Given the description of an element on the screen output the (x, y) to click on. 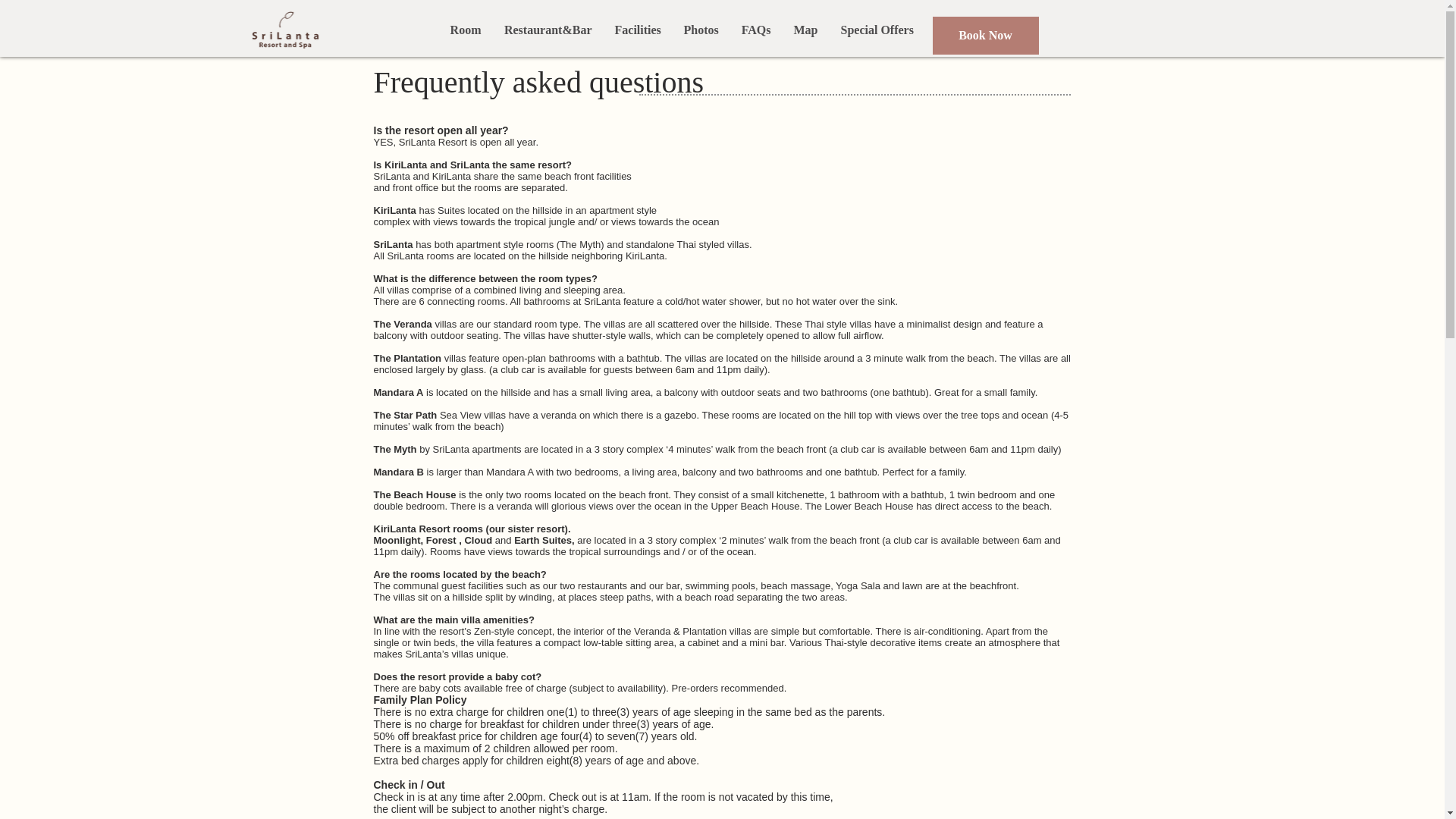
FAQs (755, 30)
Facilities (638, 30)
Map (806, 30)
Special Offers (876, 30)
Book Now (986, 35)
Room (465, 30)
Photos (700, 30)
